Given the description of an element on the screen output the (x, y) to click on. 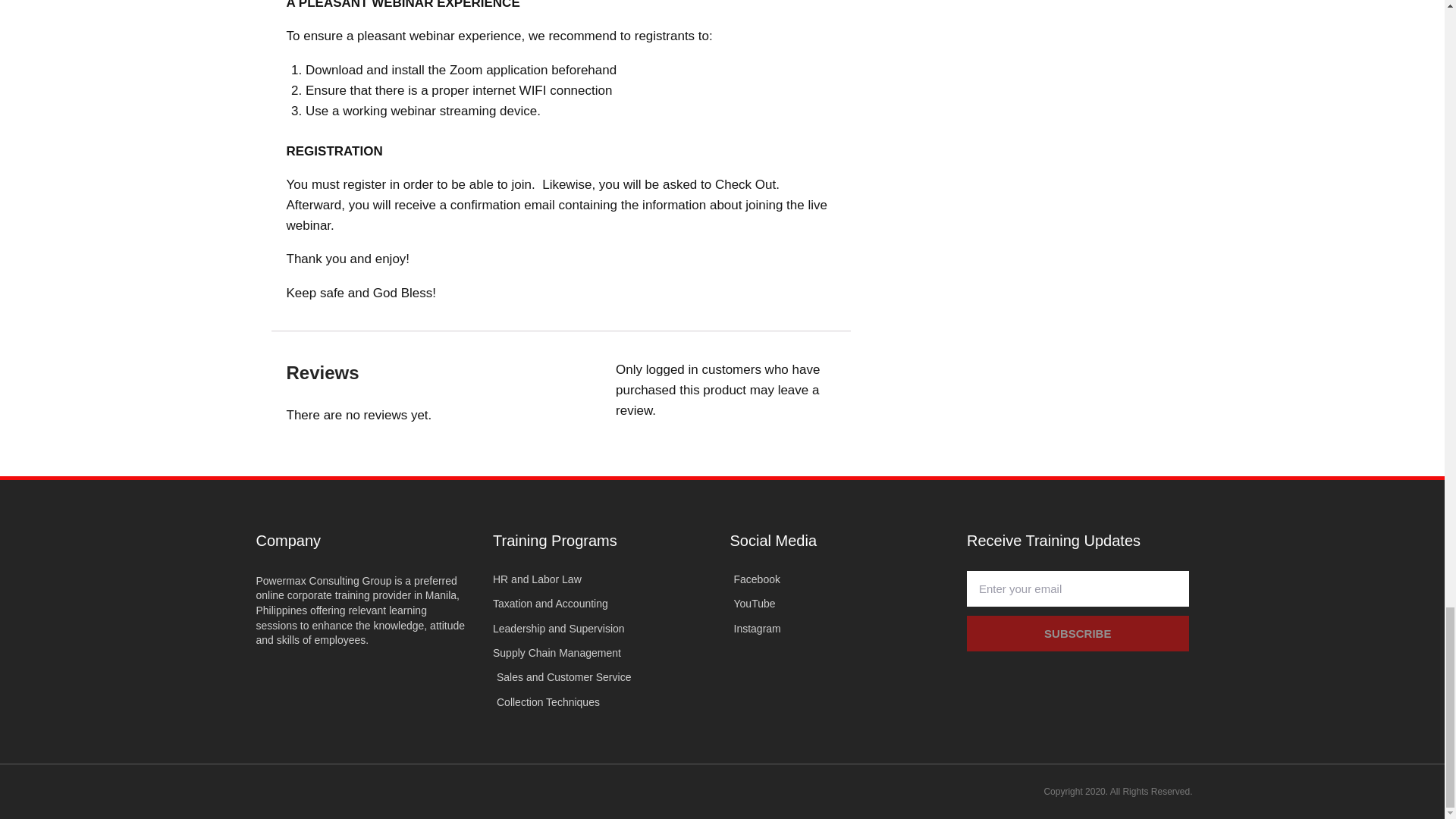
YouTube (840, 603)
Taxation and Accounting (603, 603)
Facebook (840, 579)
HR and Labor Law (603, 579)
Instagram (840, 628)
Leadership and Supervision (603, 628)
SUBSCRIBE (1077, 633)
Supply Chain Management (603, 652)
